Given the description of an element on the screen output the (x, y) to click on. 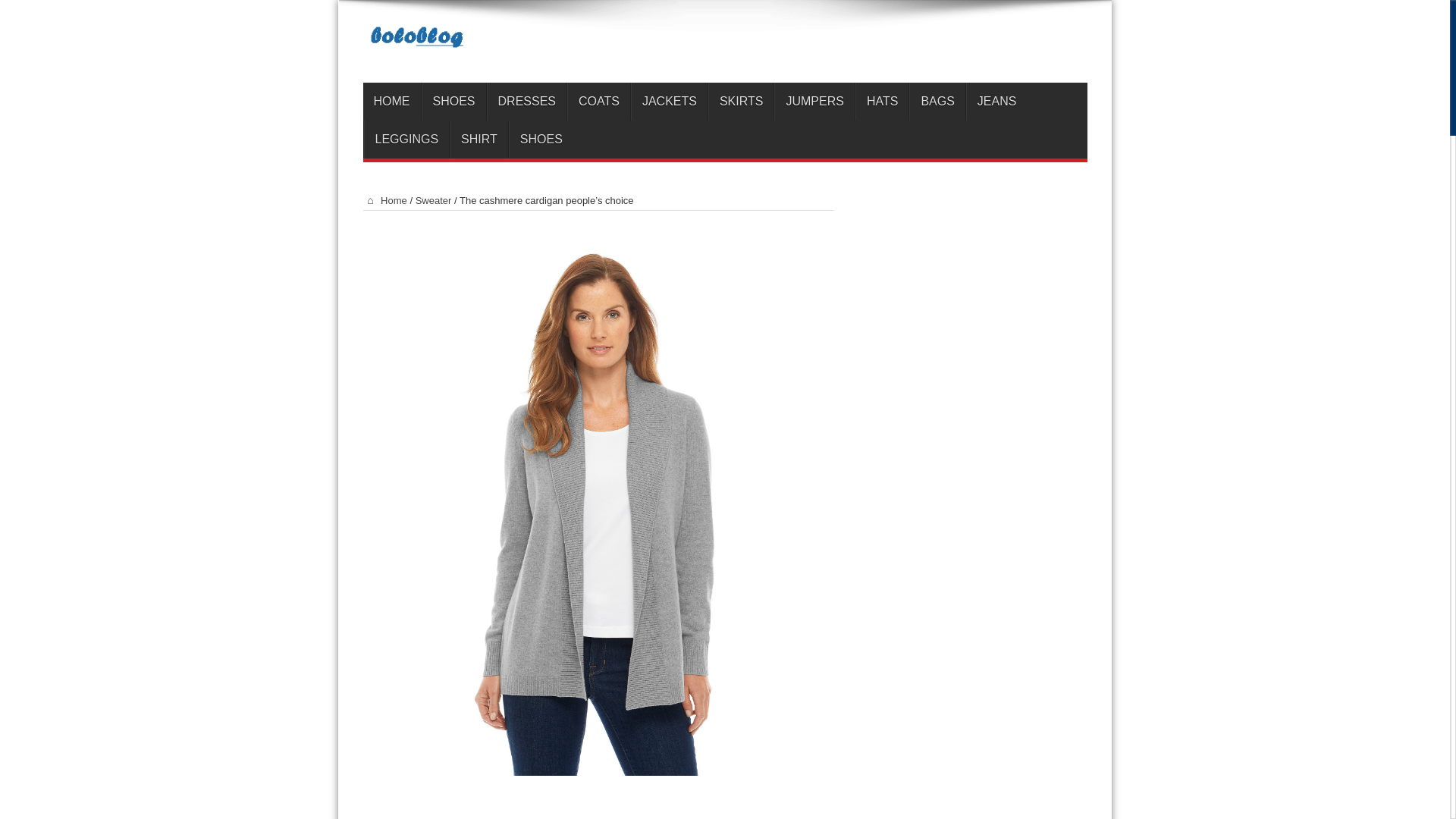
DRESSES (526, 101)
Advertisement (597, 798)
LEGGINGS (406, 139)
SKIRTS (740, 101)
JUMPERS (813, 101)
JACKETS (668, 101)
JEANS (996, 101)
Sweater (432, 200)
SHOES (454, 101)
BAGS (935, 101)
SHIRT (478, 139)
boloblog.com (724, 44)
HATS (882, 101)
HOME (391, 101)
COATS (598, 101)
